Given the description of an element on the screen output the (x, y) to click on. 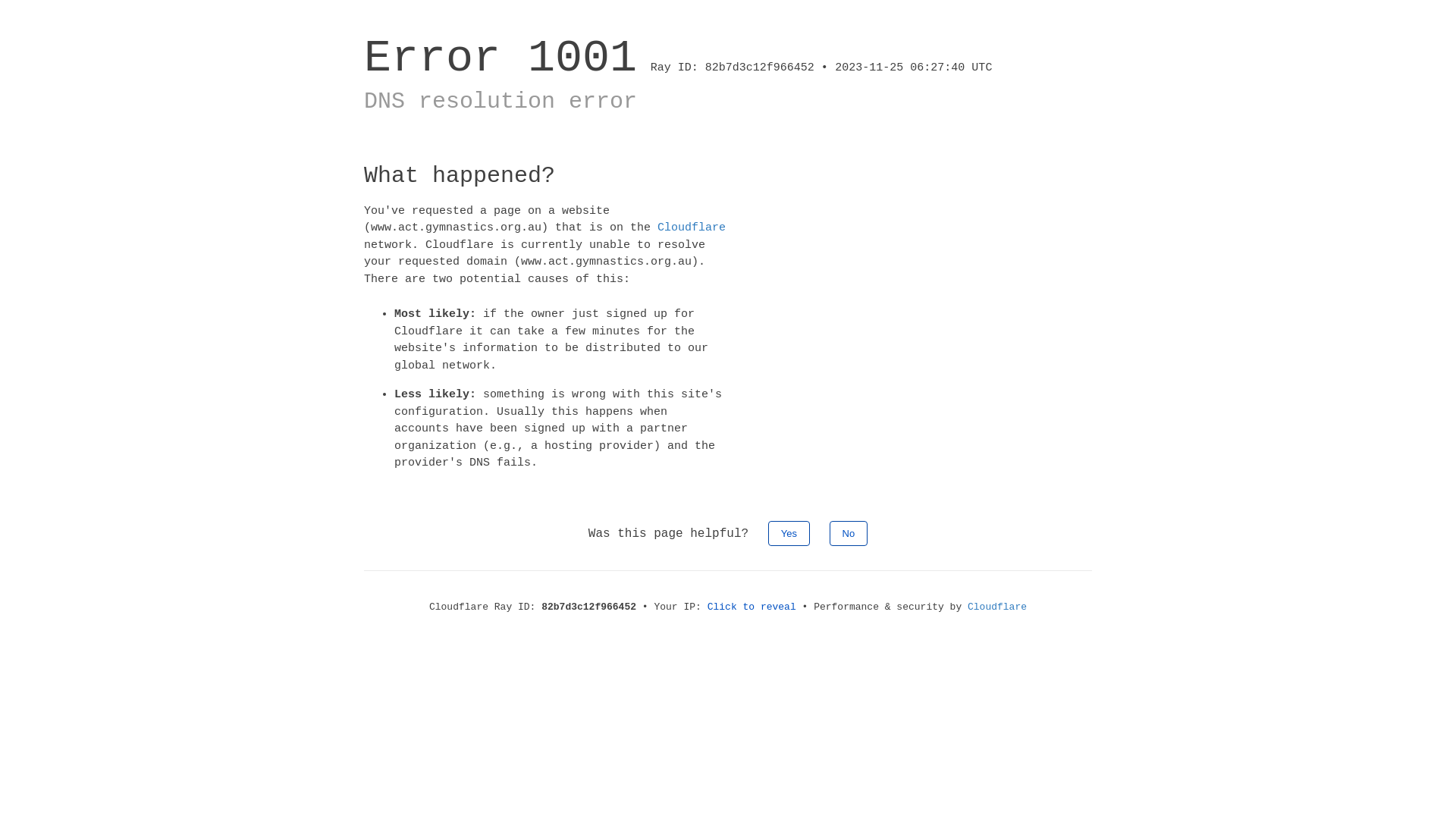
Cloudflare Element type: text (691, 227)
Yes Element type: text (788, 532)
No Element type: text (848, 532)
Cloudflare Element type: text (996, 605)
Click to reveal Element type: text (751, 605)
